Given the description of an element on the screen output the (x, y) to click on. 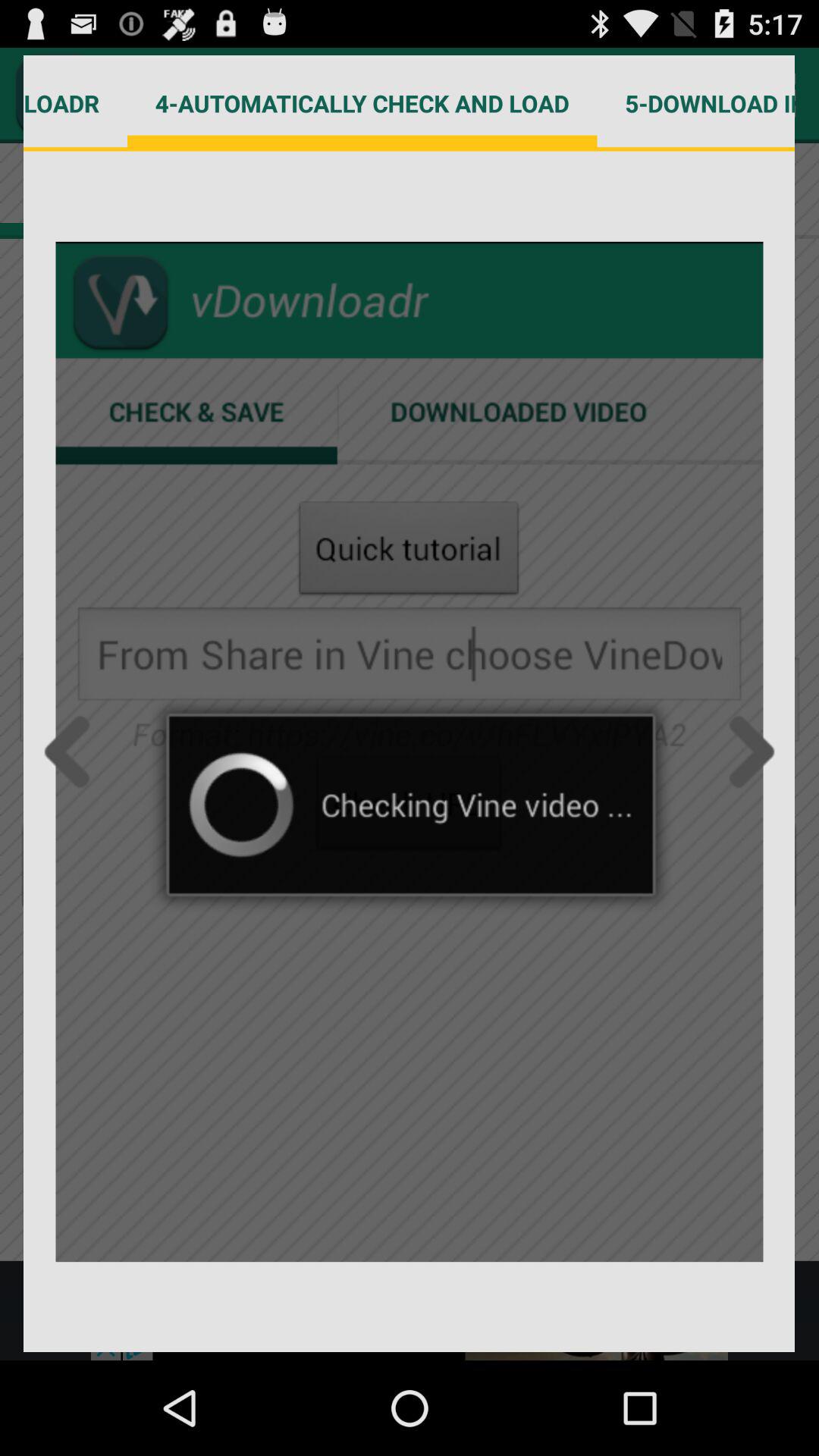
select icon next to the 4 automatically check icon (75, 103)
